Given the description of an element on the screen output the (x, y) to click on. 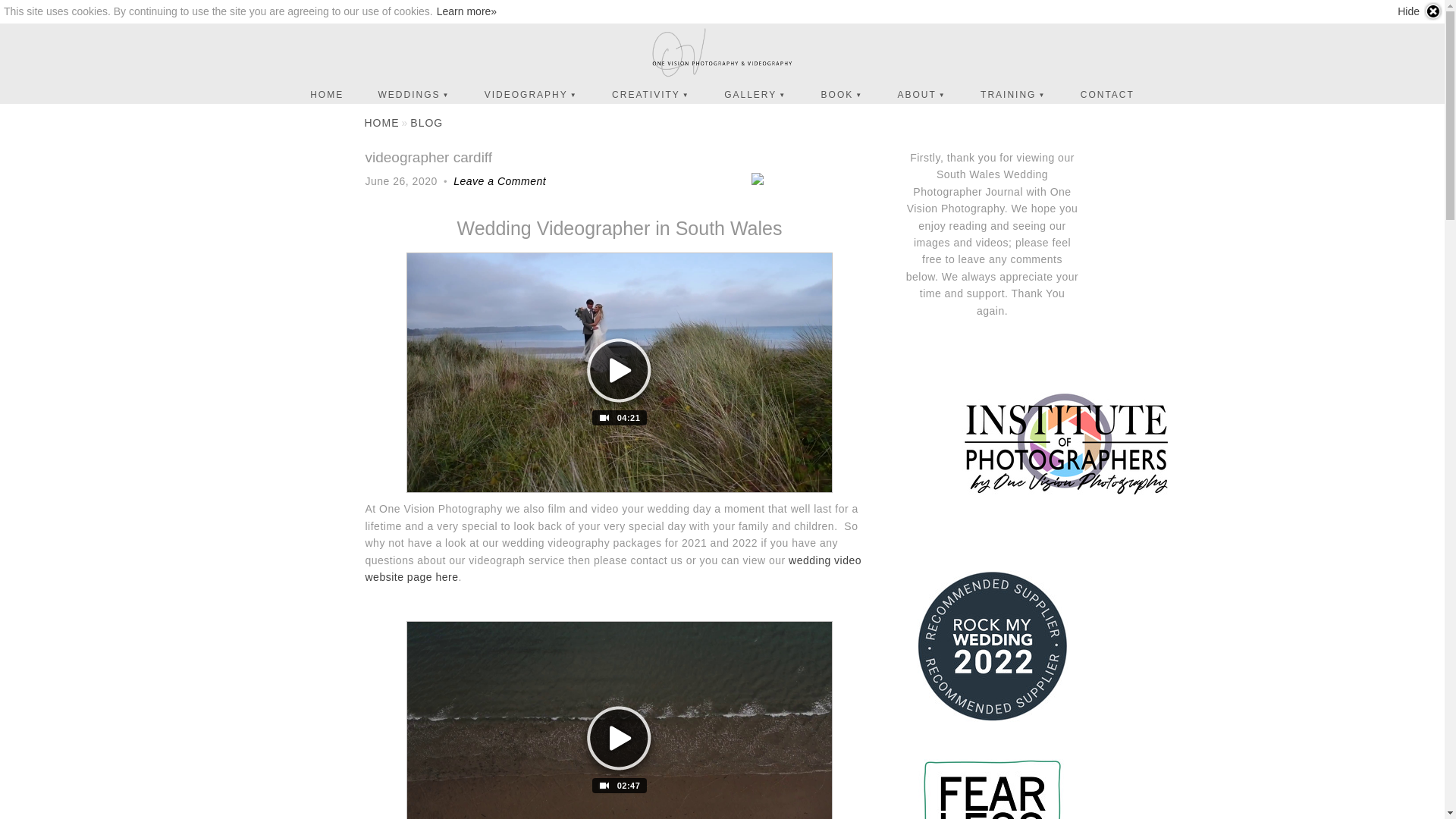
HOME Element type: text (326, 94)
Leave a Comment Element type: text (499, 181)
CONTACT Element type: text (1107, 94)
wedding video website page here Element type: text (613, 568)
HOME Element type: text (381, 122)
One Vision Photography Element type: hover (721, 53)
Hide Element type: text (1419, 11)
BLOG Element type: text (426, 122)
